Given the description of an element on the screen output the (x, y) to click on. 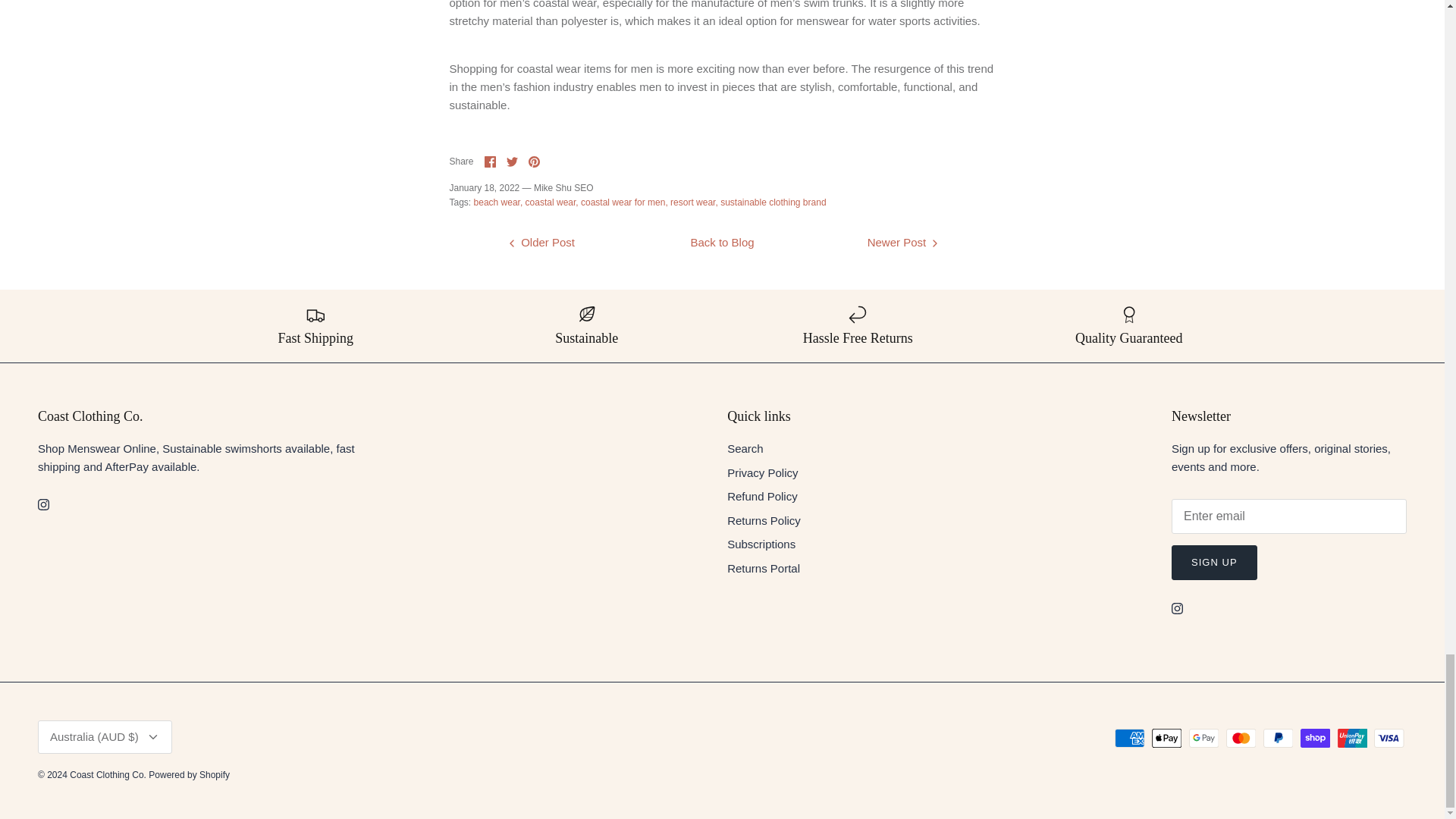
Instagram (1177, 608)
Show articles tagged beach wear (498, 202)
Show articles tagged coastal wear (551, 202)
Show articles tagged sustainable clothing brand (772, 202)
Twitter (512, 161)
Instagram (43, 504)
Google Pay (1203, 737)
Left (511, 243)
Right (934, 243)
Facebook (490, 161)
